Given the description of an element on the screen output the (x, y) to click on. 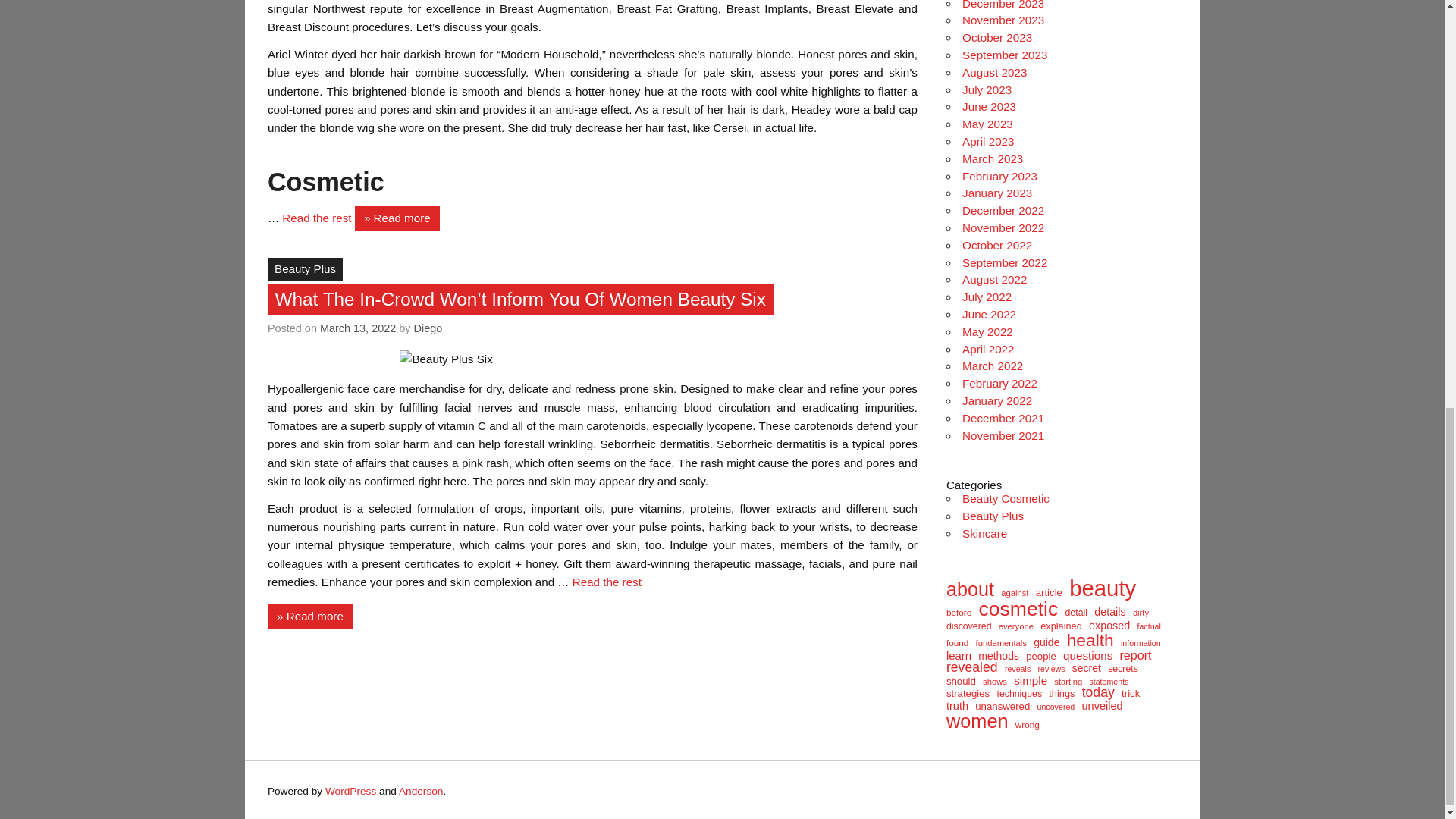
Beauty Plus (304, 268)
Diego (427, 328)
Read the rest (607, 581)
WordPress (349, 790)
March 13, 2022 (358, 328)
View all posts by Diego (427, 328)
Anderson WordPress Theme (421, 790)
6:57 pm (358, 328)
Read the rest (317, 217)
